Given the description of an element on the screen output the (x, y) to click on. 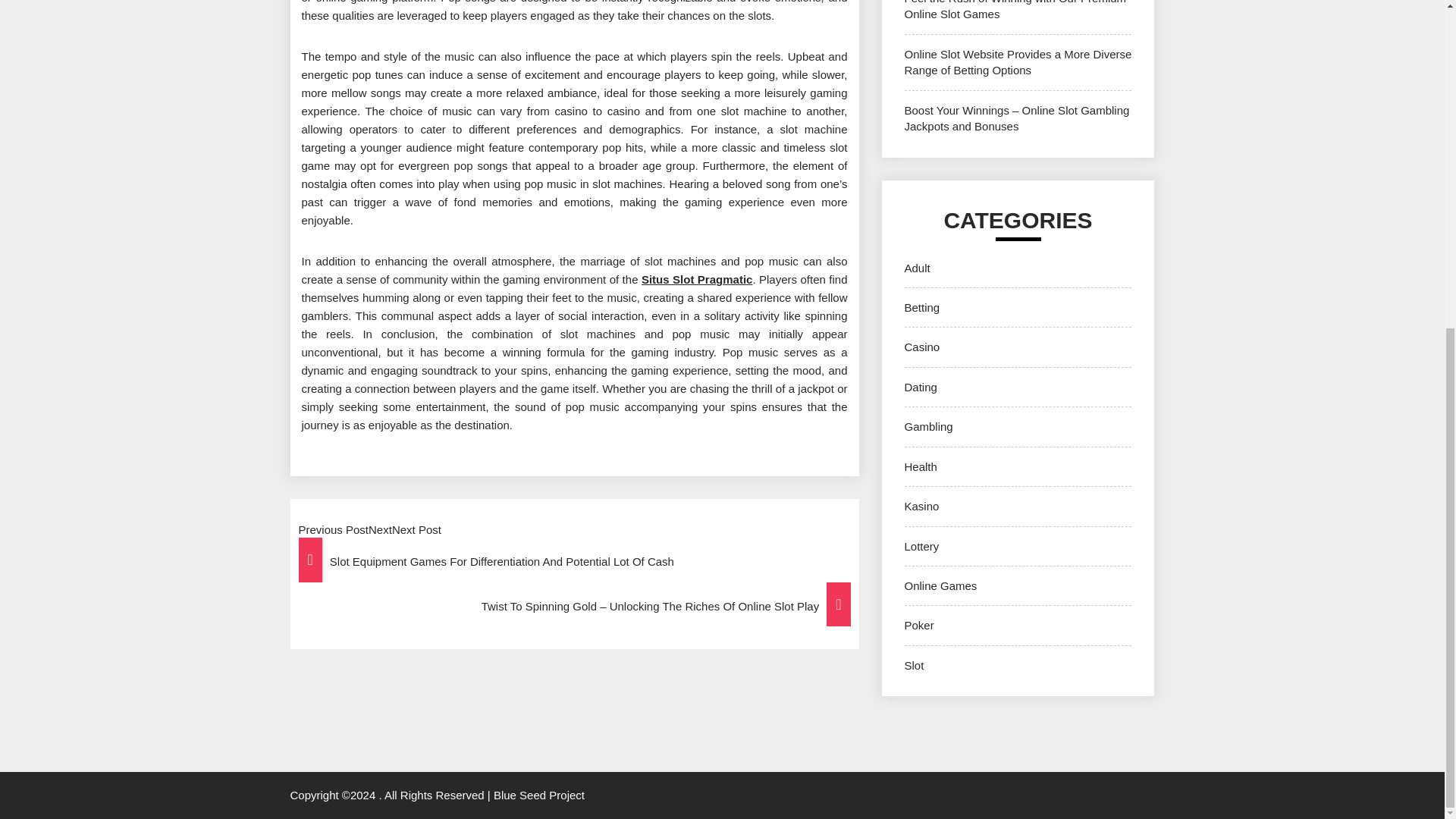
Slot (913, 665)
Kasino (921, 505)
Situs Slot Pragmatic (697, 278)
Casino (921, 346)
Health (920, 466)
Feel the Rush of Winning with Our Premium Online Slot Games (1014, 10)
Adult (917, 267)
Betting (921, 307)
Gambling (928, 426)
Lottery (921, 545)
